Given the description of an element on the screen output the (x, y) to click on. 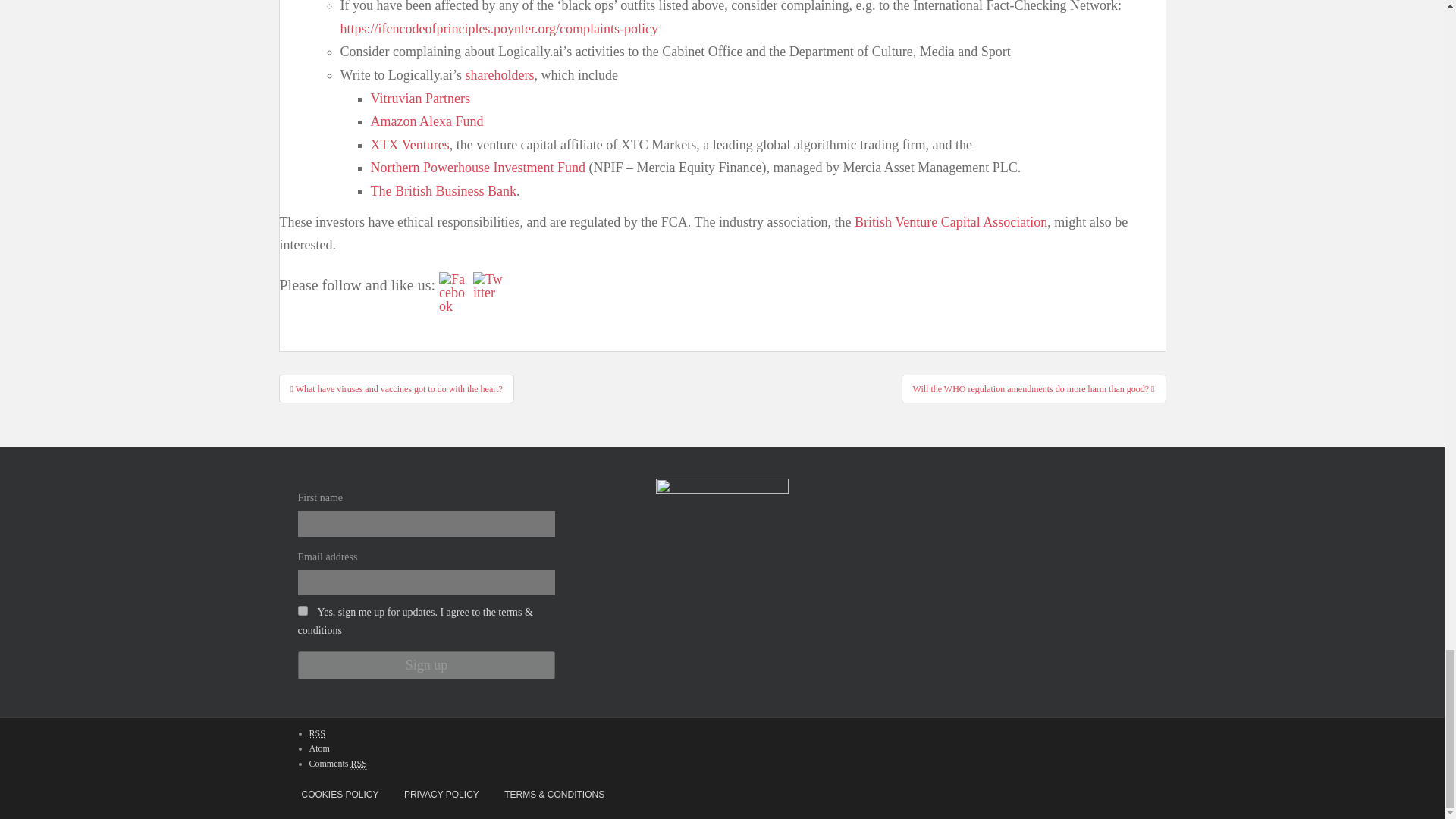
Really Simple Syndication (358, 763)
Syndicate this site using Atom (319, 747)
Syndicate this site using RSS (316, 733)
1 (302, 610)
The latest comments to all posts in RSS (337, 763)
Twitter (488, 285)
Sign up (425, 665)
